Given the description of an element on the screen output the (x, y) to click on. 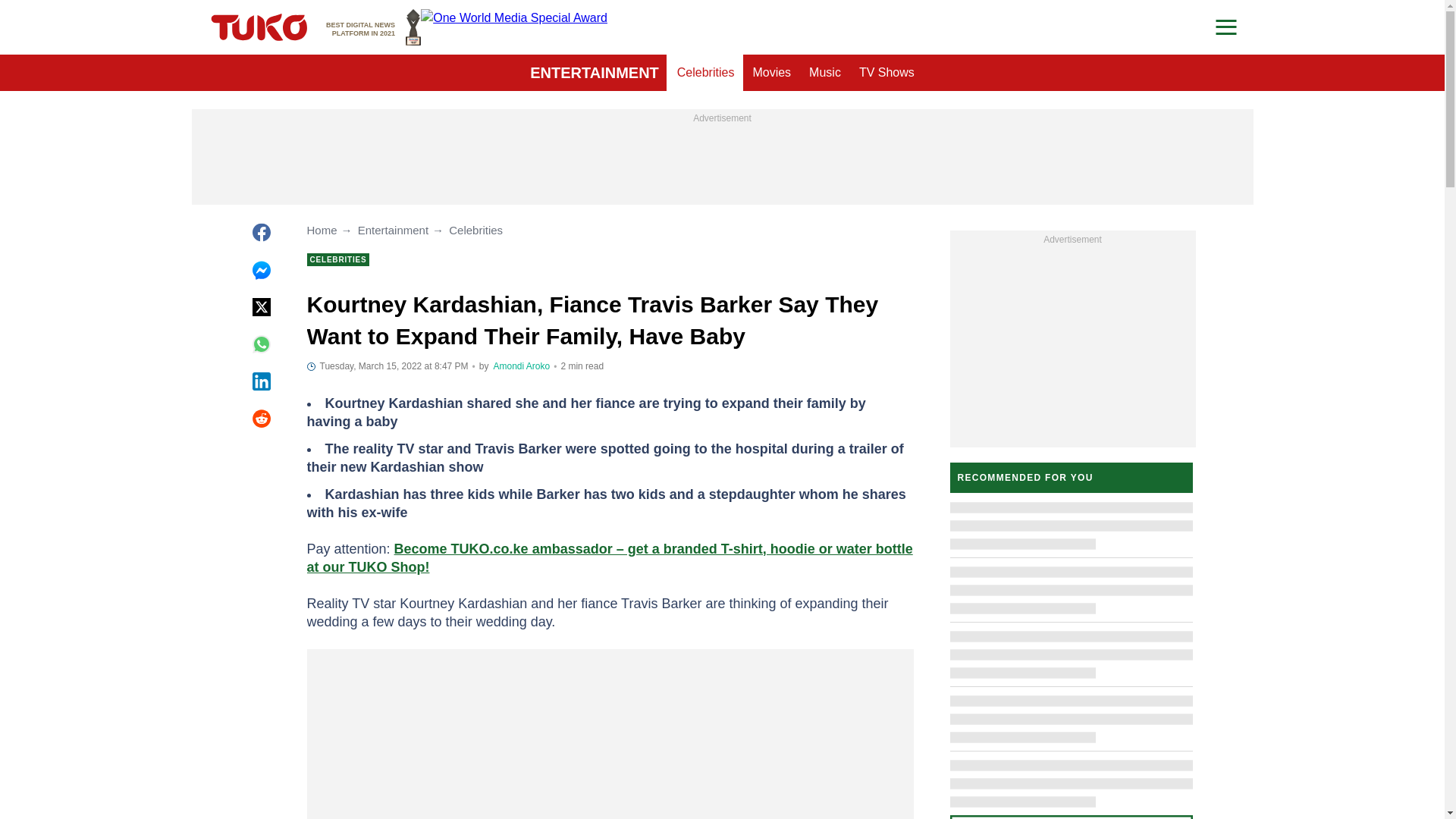
Music (824, 72)
Author page (373, 27)
Movies (521, 366)
Celebrities (770, 72)
ENTERTAINMENT (706, 72)
TV Shows (594, 72)
